Given the description of an element on the screen output the (x, y) to click on. 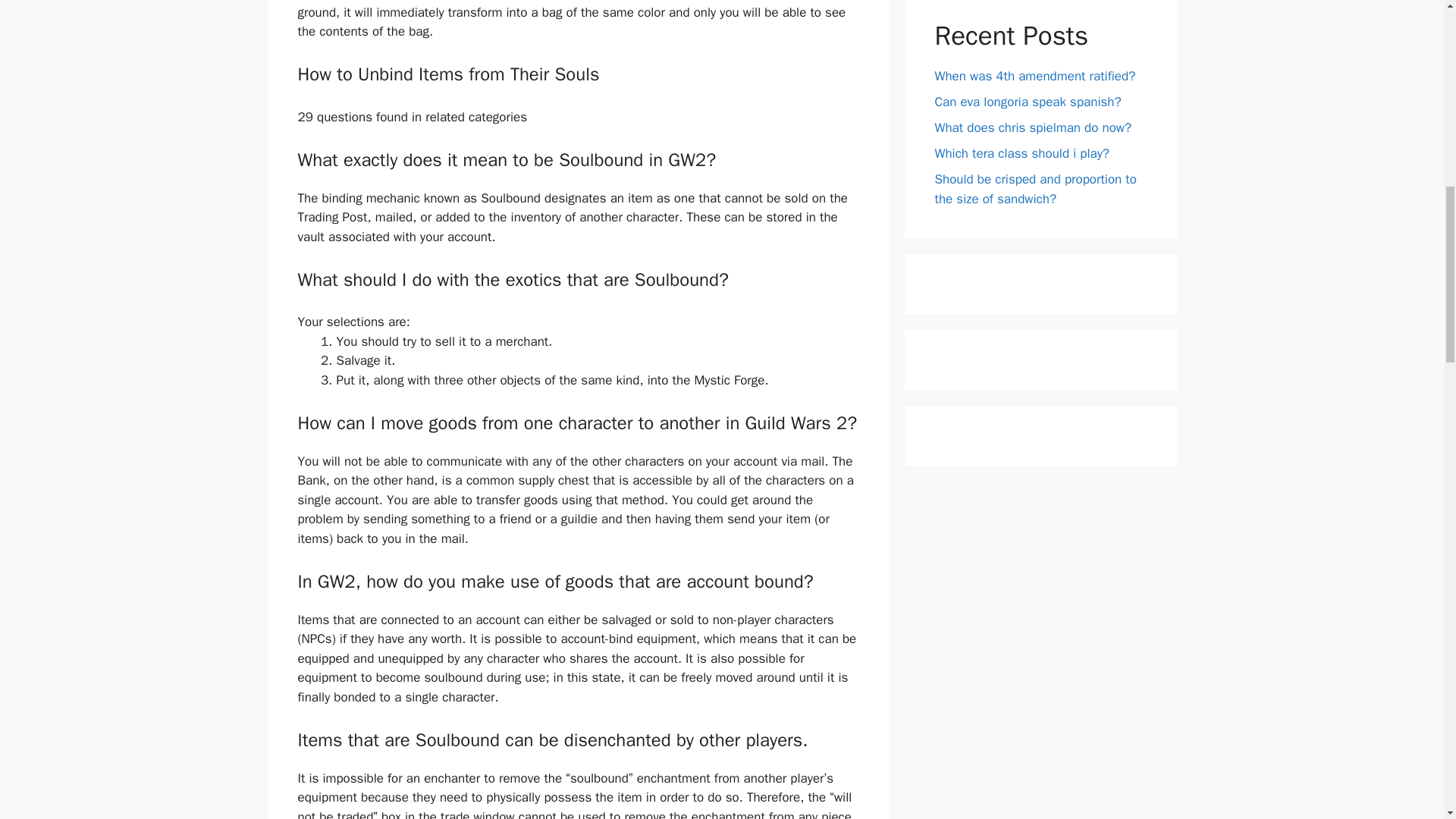
What does chris spielman do now? (1032, 127)
Which tera class should i play? (1021, 153)
Can eva longoria speak spanish? (1027, 101)
When was 4th amendment ratified? (1034, 75)
Should be crisped and proportion to the size of sandwich? (1034, 189)
